Given the description of an element on the screen output the (x, y) to click on. 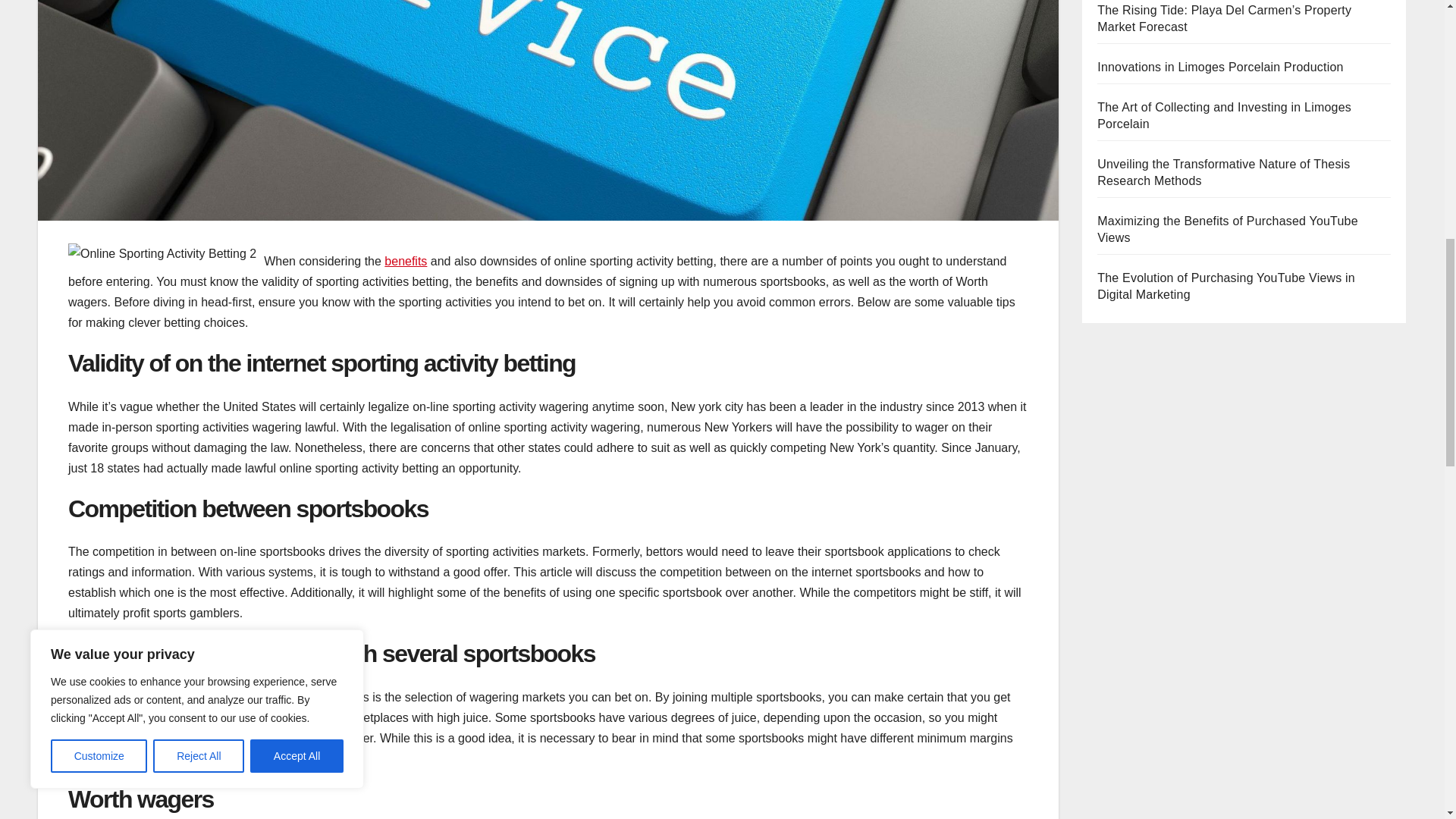
benefits (405, 260)
